Given the description of an element on the screen output the (x, y) to click on. 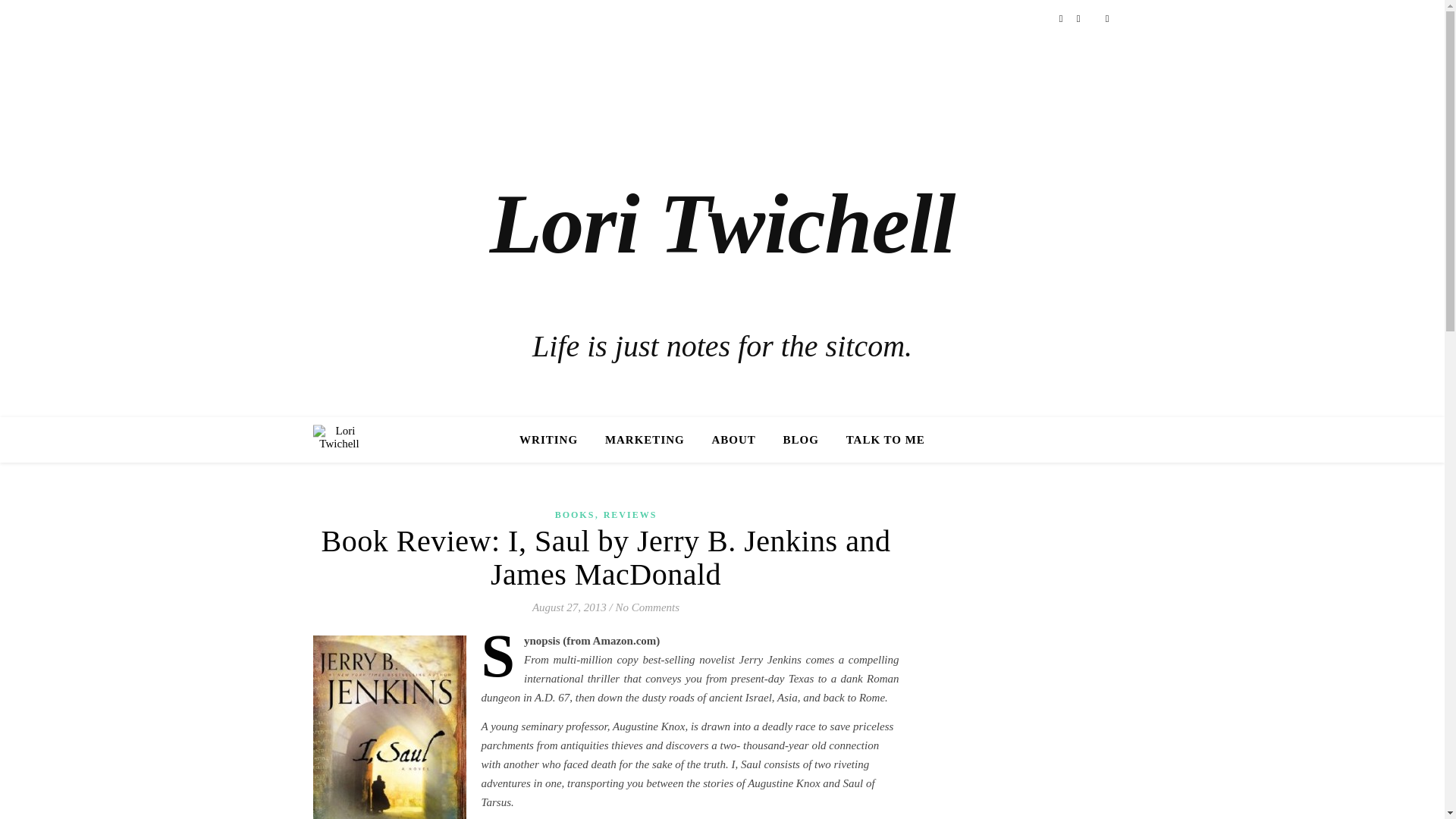
BLOG (801, 439)
Lori Twichell (722, 223)
BOOKS (574, 514)
WRITING (554, 439)
REVIEWS (631, 514)
TALK TO ME (879, 439)
ABOUT (732, 439)
No Comments (647, 607)
Lori Twichell (339, 439)
MARKETING (644, 439)
